Given the description of an element on the screen output the (x, y) to click on. 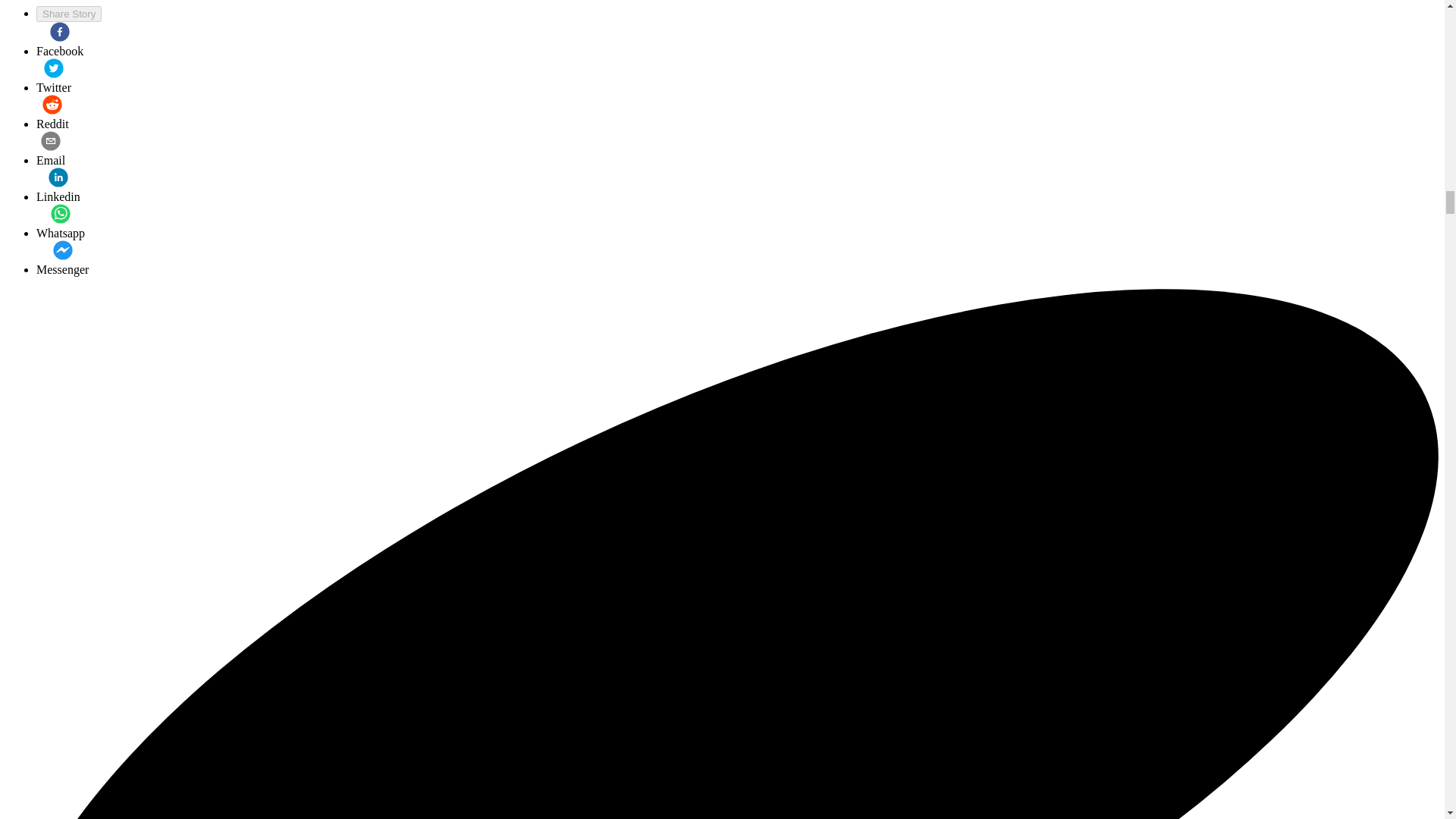
Facebook (59, 40)
Share Story (68, 13)
Twitter (53, 76)
